Given the description of an element on the screen output the (x, y) to click on. 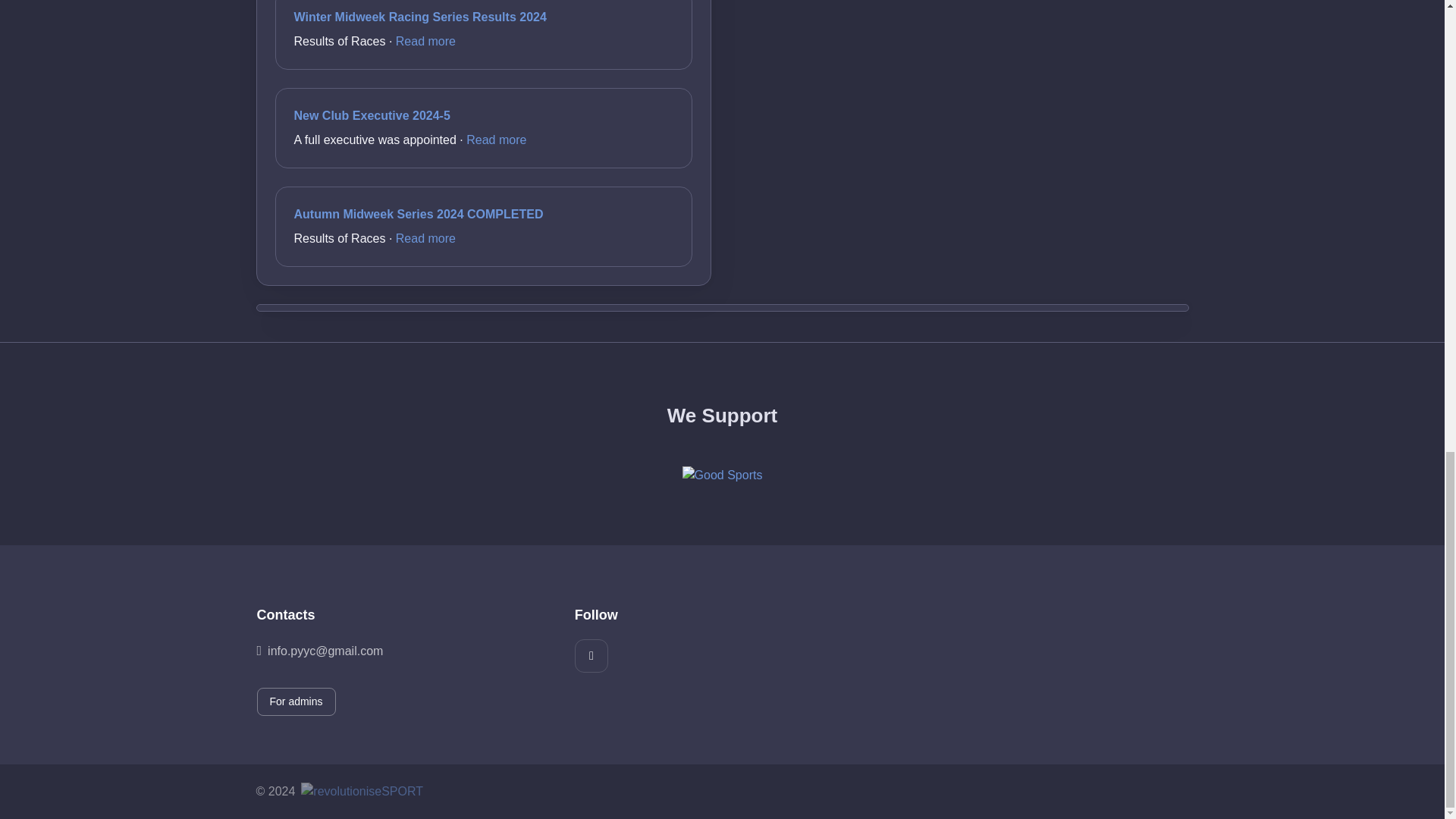
Autumn Midweek Series 2024 COMPLETED (418, 214)
Read more (425, 237)
Winter Midweek Racing Series Results 2024 (420, 16)
Read more (425, 41)
Read more (495, 139)
New Club Executive 2024-5 (371, 115)
For admins (295, 701)
